Given the description of an element on the screen output the (x, y) to click on. 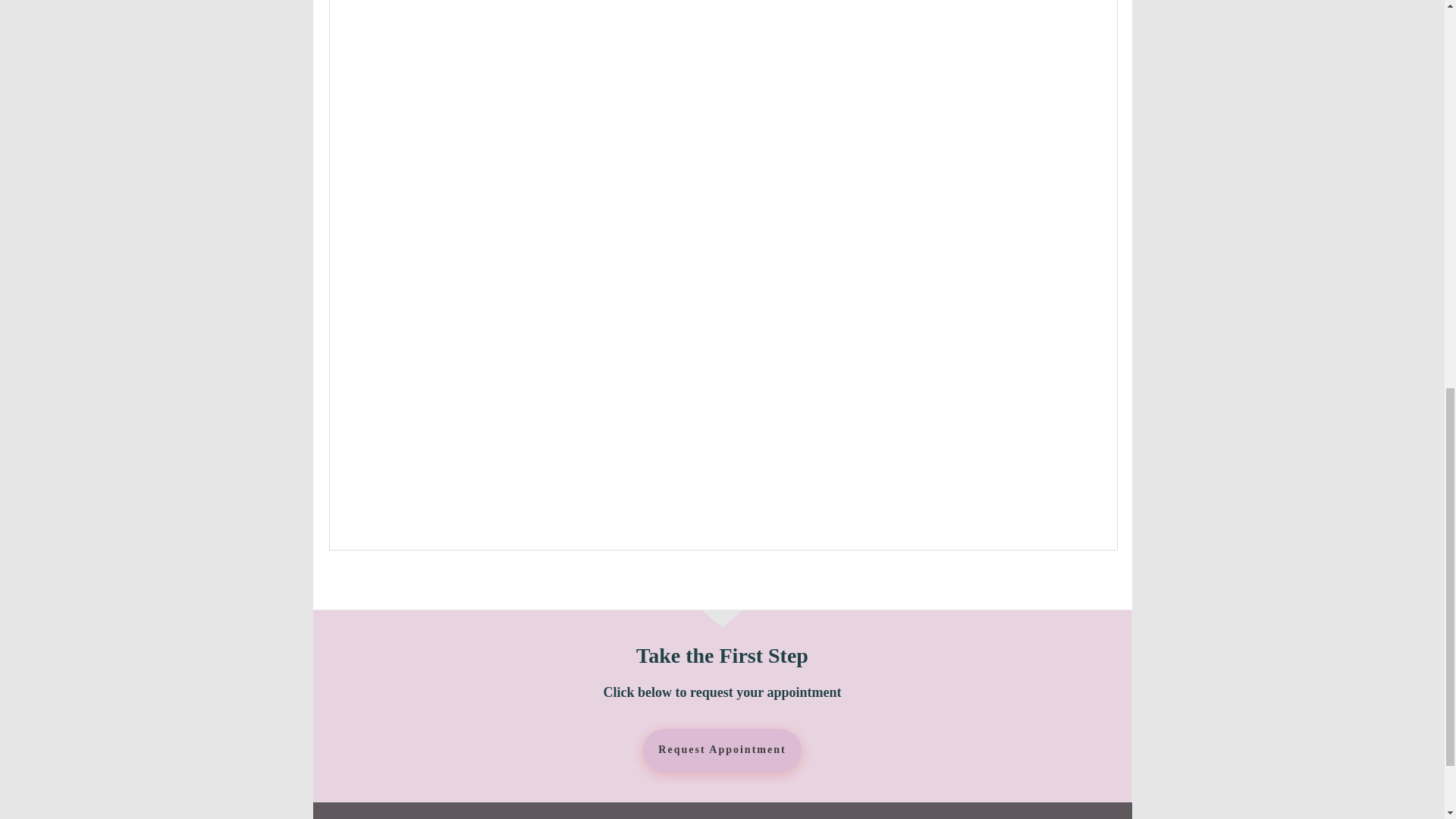
Request Appointment (721, 750)
